Given the description of an element on the screen output the (x, y) to click on. 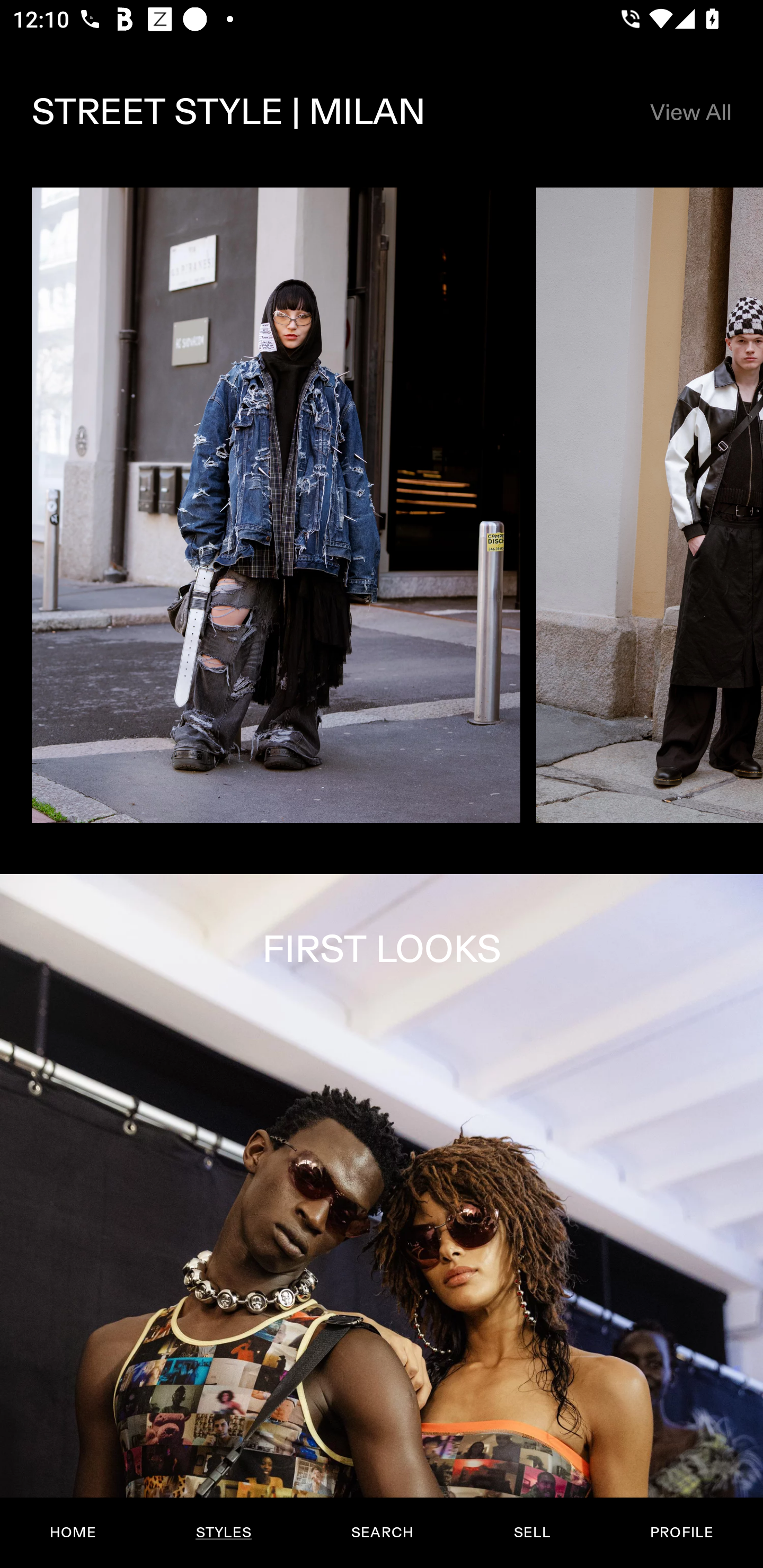
View All (690, 112)
FIRST LOOKS DIESEL FALL '24 (381, 1220)
HOME (72, 1532)
STYLES (222, 1532)
SEARCH (381, 1532)
SELL (531, 1532)
PROFILE (681, 1532)
